Given the description of an element on the screen output the (x, y) to click on. 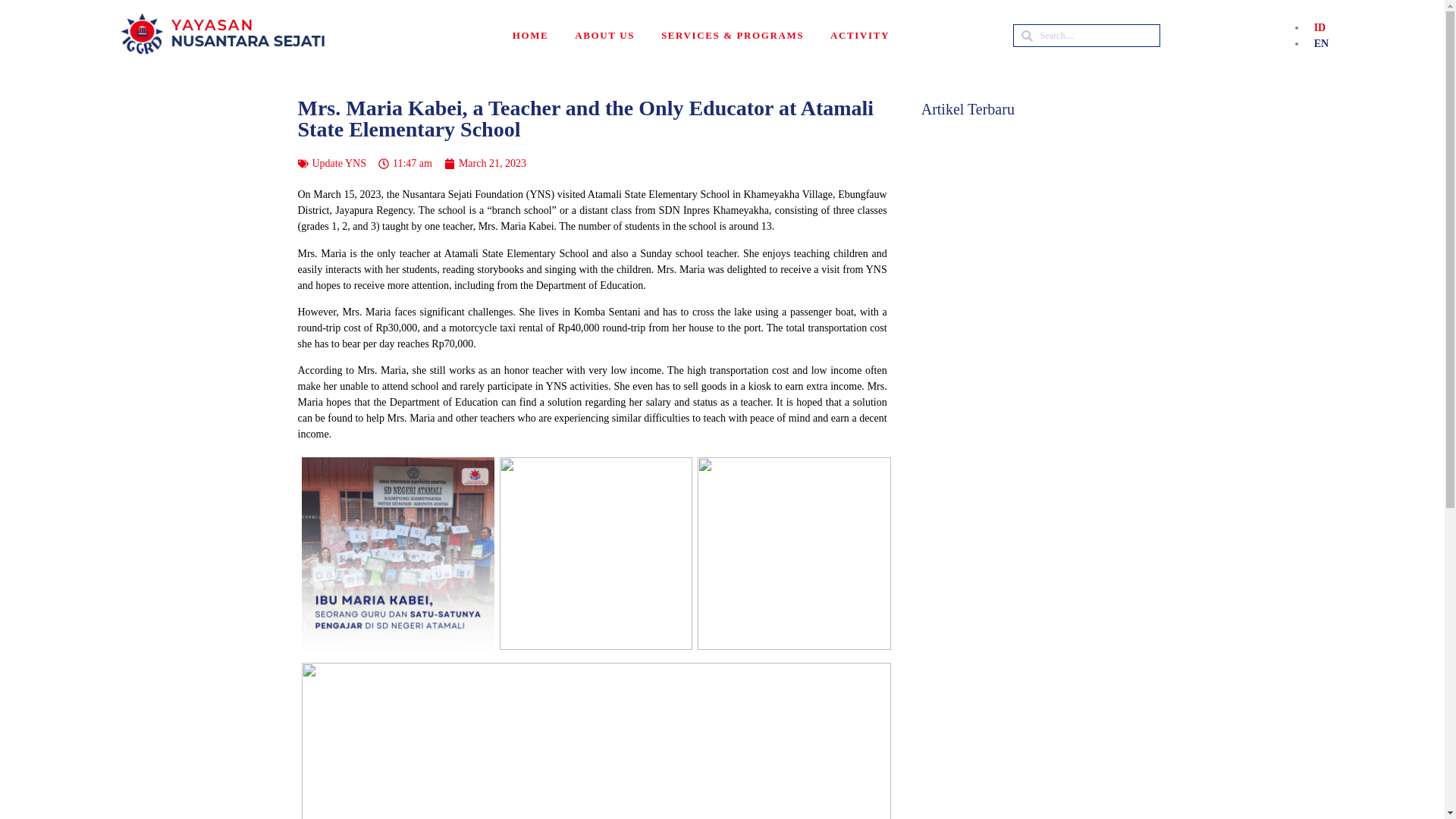
HOME (530, 35)
ID (1316, 27)
March 21, 2023 (484, 163)
Update YNS (339, 163)
ACTIVITY (859, 35)
ABOUT US (604, 35)
EN (1316, 43)
